Given the description of an element on the screen output the (x, y) to click on. 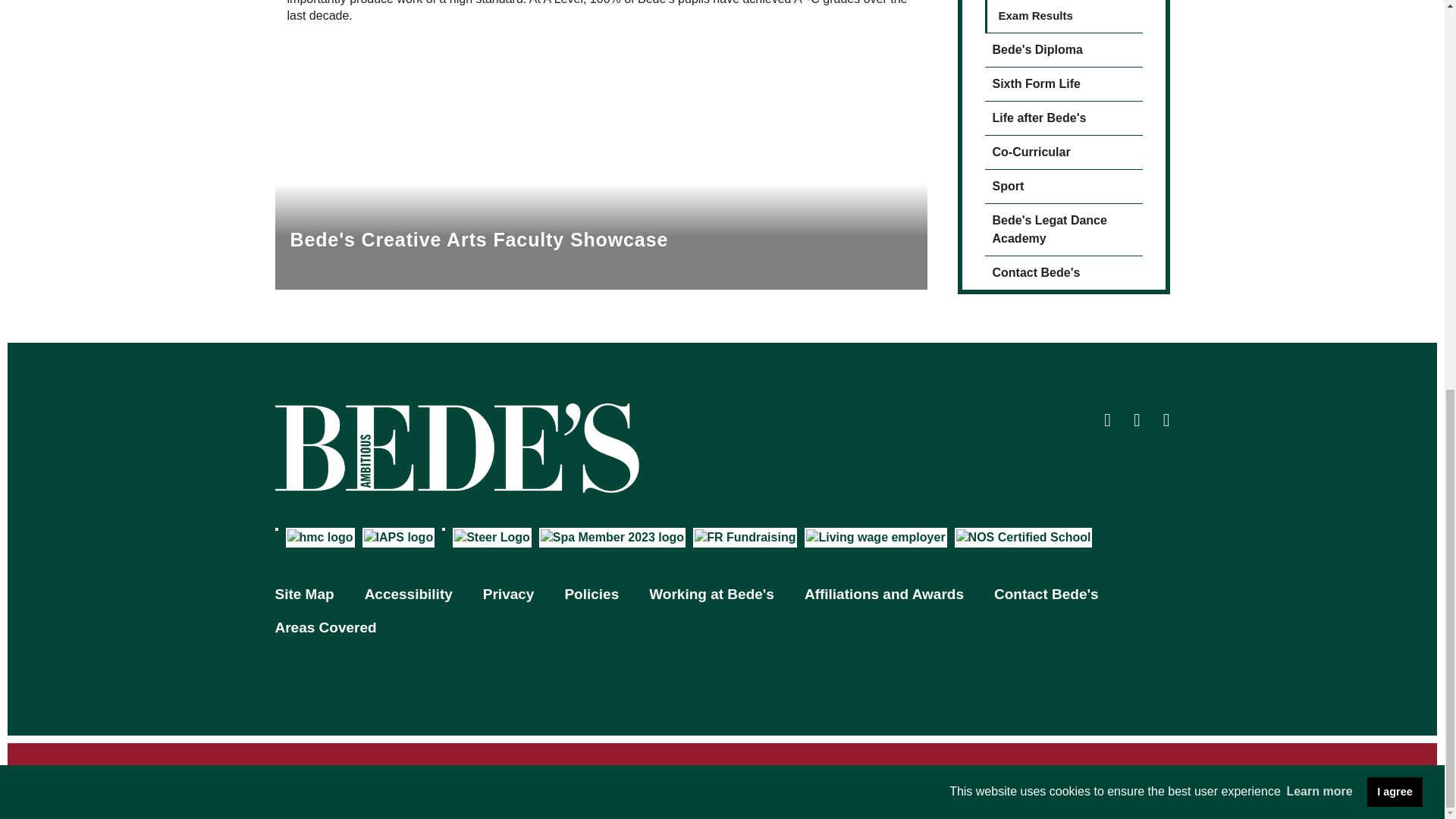
Learn more (1319, 49)
I agree (1394, 50)
Powered by Finalsite opens in a new window (722, 743)
